Given the description of an element on the screen output the (x, y) to click on. 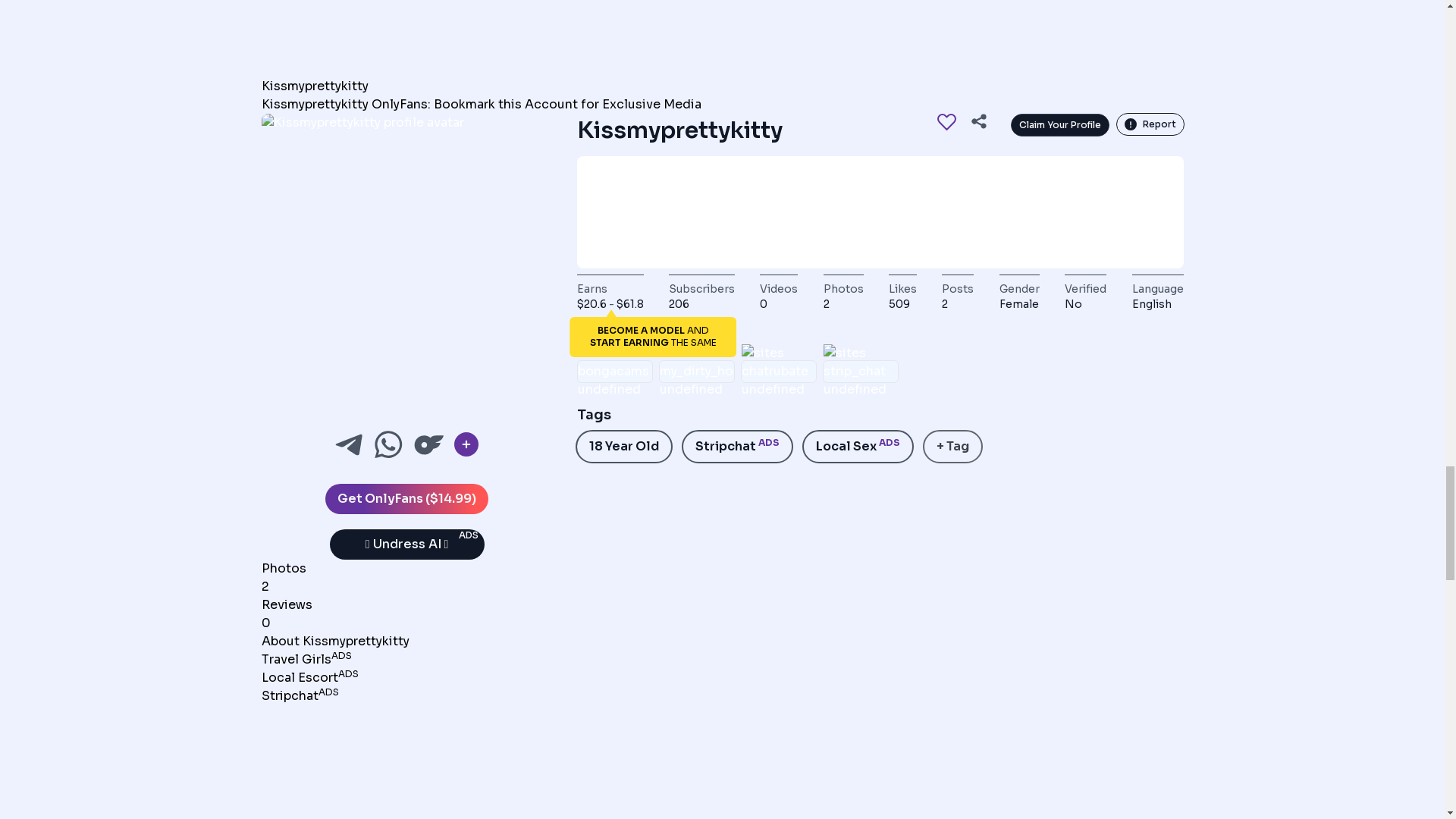
Claim Your Profile (1059, 124)
sites chatrubate undefined (778, 370)
Report (1149, 124)
sites bongacams undefined (615, 370)
Kissmyprettykitty (314, 85)
18 Year Old (622, 446)
Kissmyprettykitty profile avatar (405, 258)
